Given the description of an element on the screen output the (x, y) to click on. 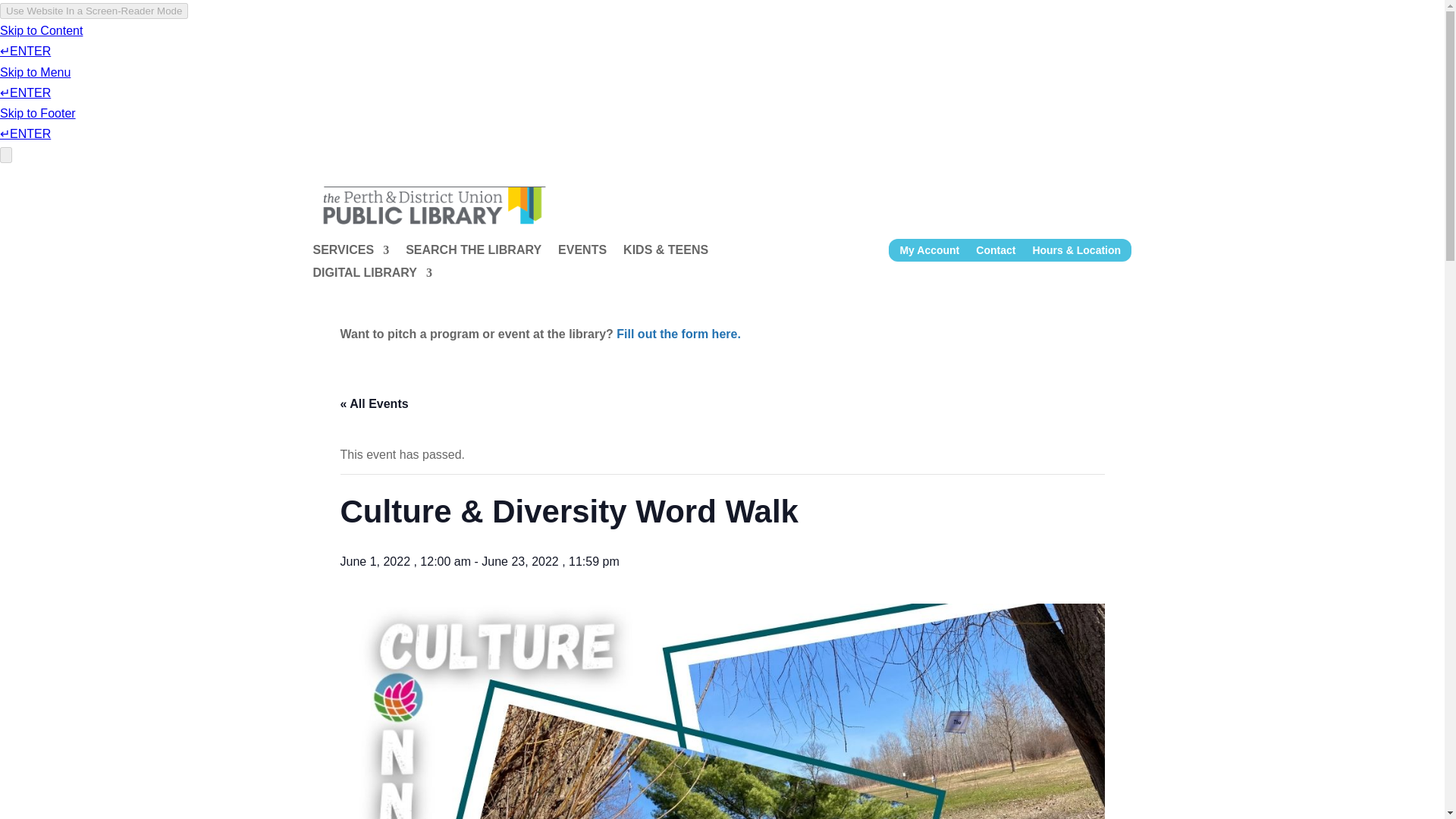
DIGITAL LIBRARY (371, 275)
SERVICES (350, 252)
EVENTS (582, 252)
SEARCH THE LIBRARY (473, 252)
